Given the description of an element on the screen output the (x, y) to click on. 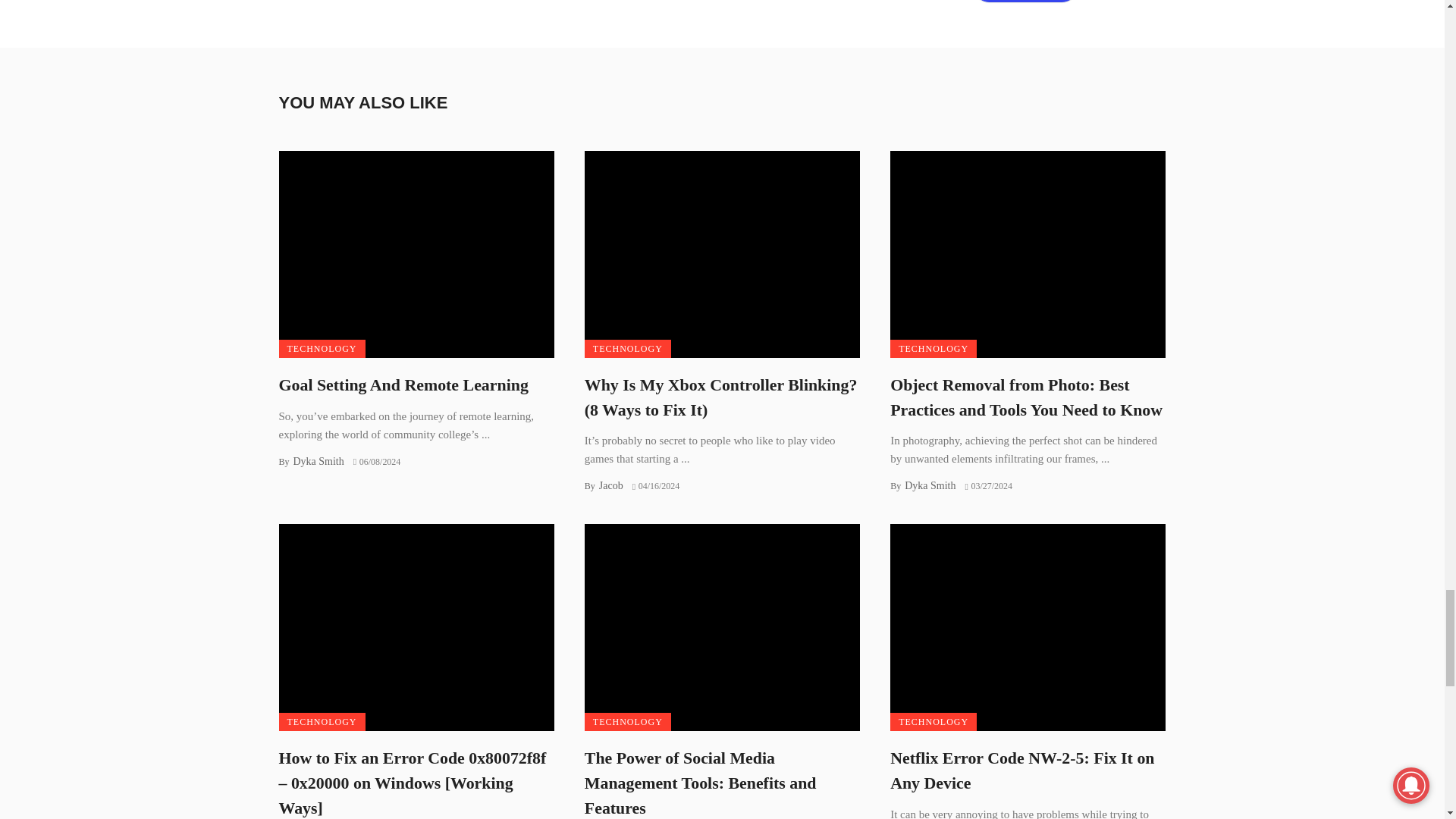
Post Comment (1025, 1)
